Given the description of an element on the screen output the (x, y) to click on. 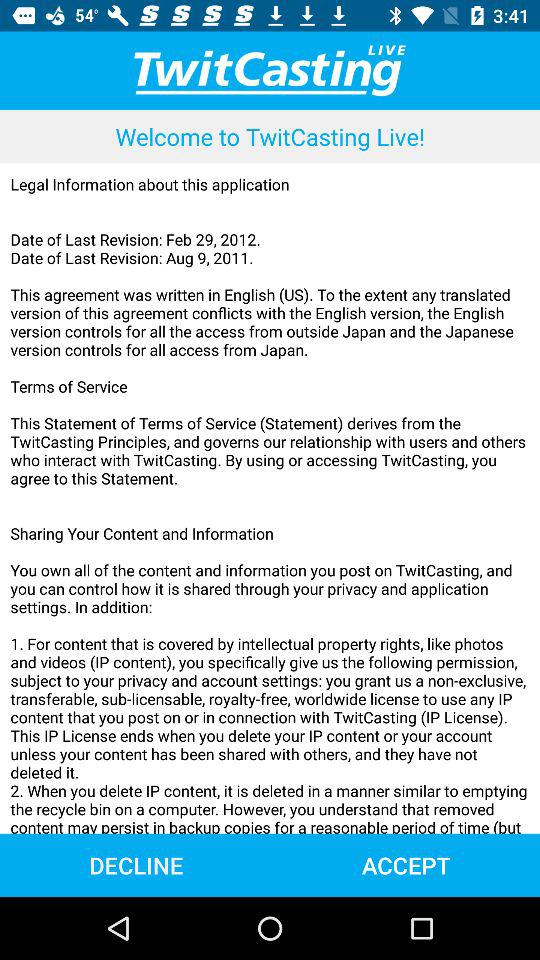
press item at the bottom left corner (136, 864)
